Given the description of an element on the screen output the (x, y) to click on. 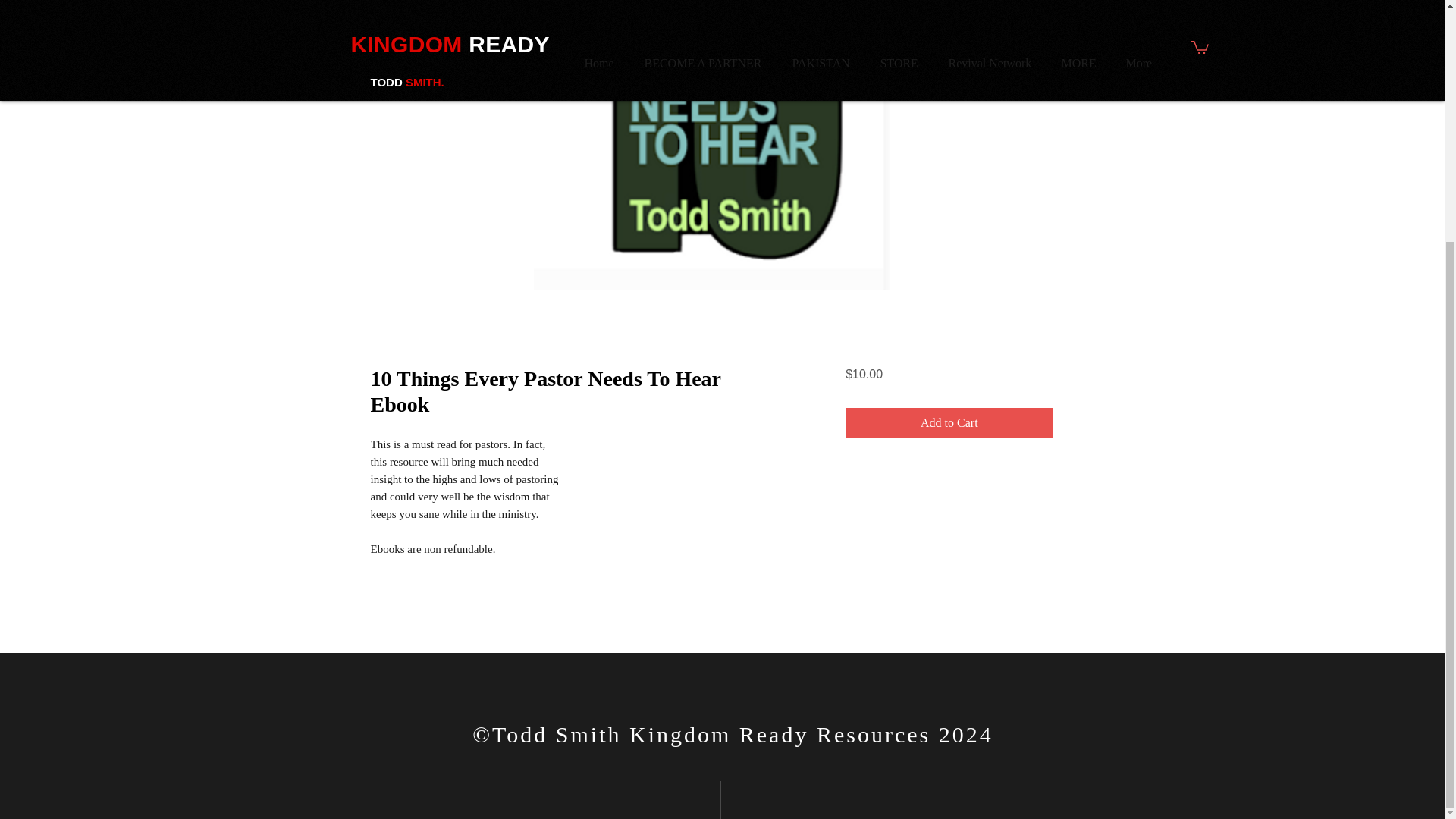
Add to Cart (948, 422)
